Given the description of an element on the screen output the (x, y) to click on. 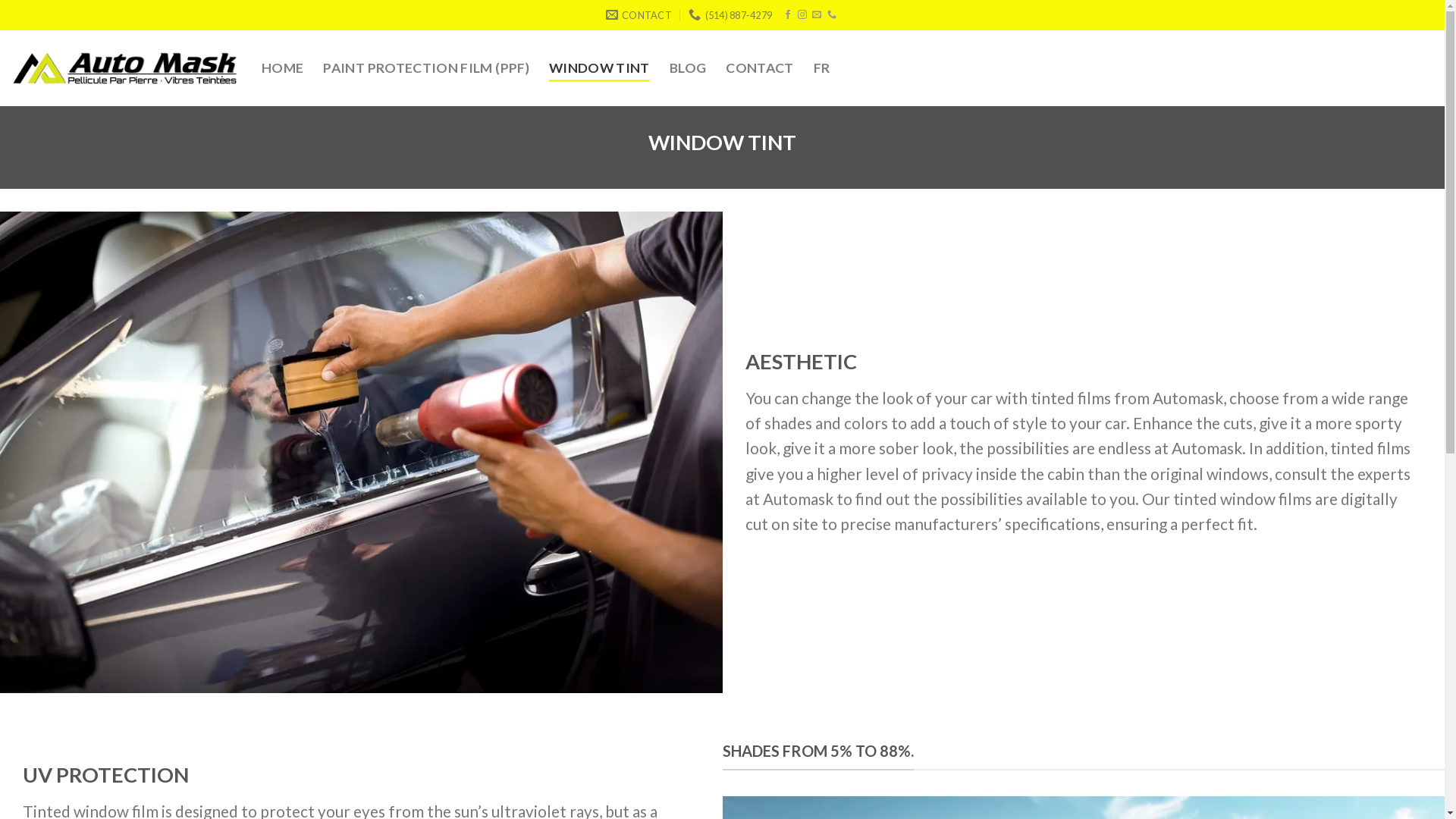
(514) 887-4279 Element type: text (729, 14)
HOME Element type: text (282, 67)
BLOG Element type: text (687, 67)
PAINT PROTECTION FILM (PPF) Element type: text (426, 67)
Window Tint, Auto Mask / Performance Tint Element type: hover (361, 452)
Call us Element type: hover (831, 14)
CONTACT Element type: text (759, 67)
Follow on Instagram Element type: hover (801, 14)
WINDOW TINT Element type: text (599, 67)
FR Element type: text (821, 67)
CONTACT Element type: text (638, 14)
Send us an email Element type: hover (816, 14)
Follow on Facebook Element type: hover (787, 14)
